Given the description of an element on the screen output the (x, y) to click on. 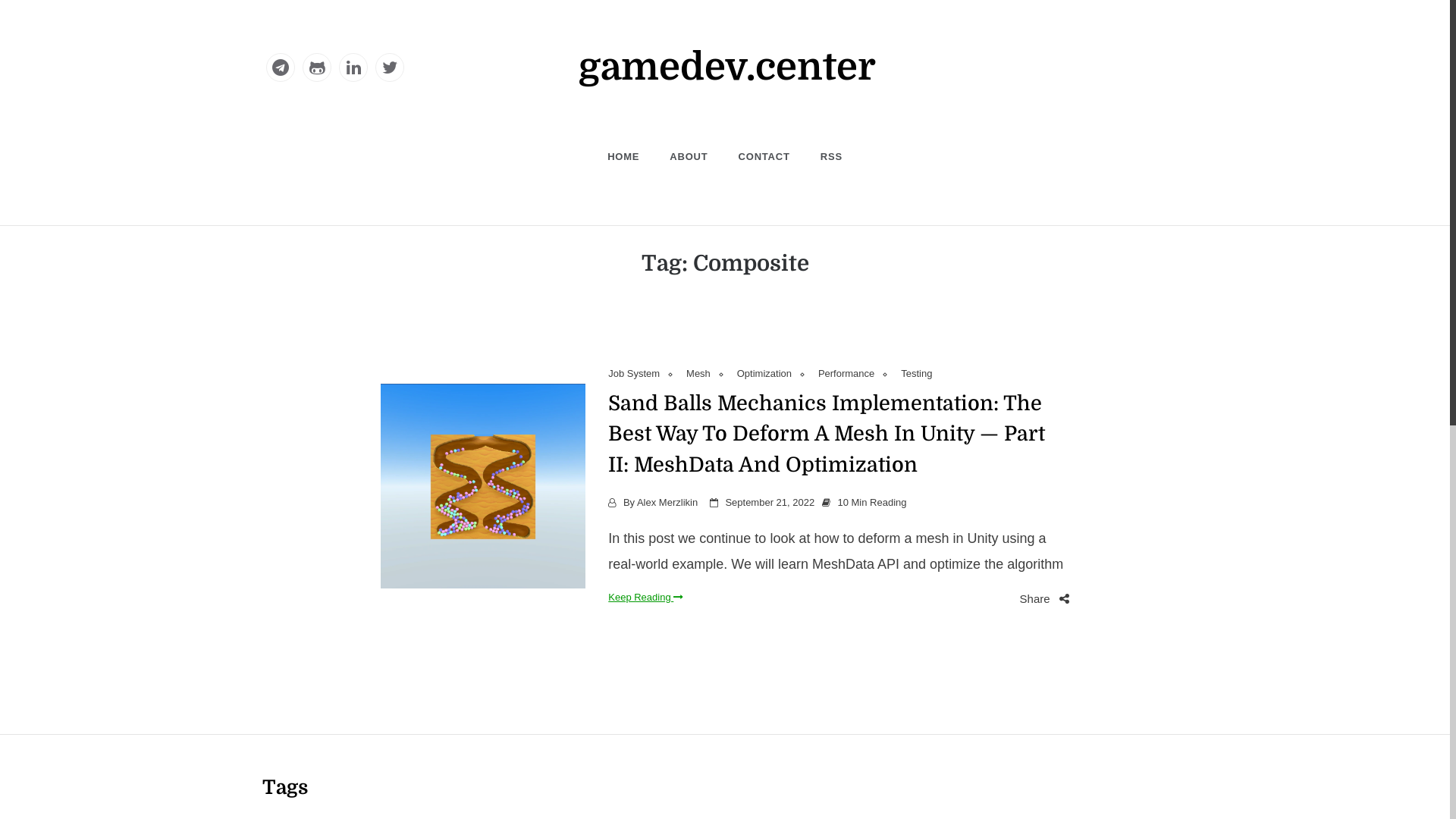
Mesh Element type: text (710, 373)
gamedev.center Element type: text (726, 66)
Testing Element type: text (917, 373)
September 21, 2022 Element type: text (769, 502)
ABOUT Element type: text (688, 156)
Performance Element type: text (857, 373)
HOME Element type: text (630, 156)
CONTACT Element type: text (764, 156)
Keep Reading Element type: text (645, 597)
Optimization Element type: text (776, 373)
Job System Element type: text (645, 373)
RSS Element type: text (823, 156)
Alex Merzlikin Element type: text (667, 502)
